Given the description of an element on the screen output the (x, y) to click on. 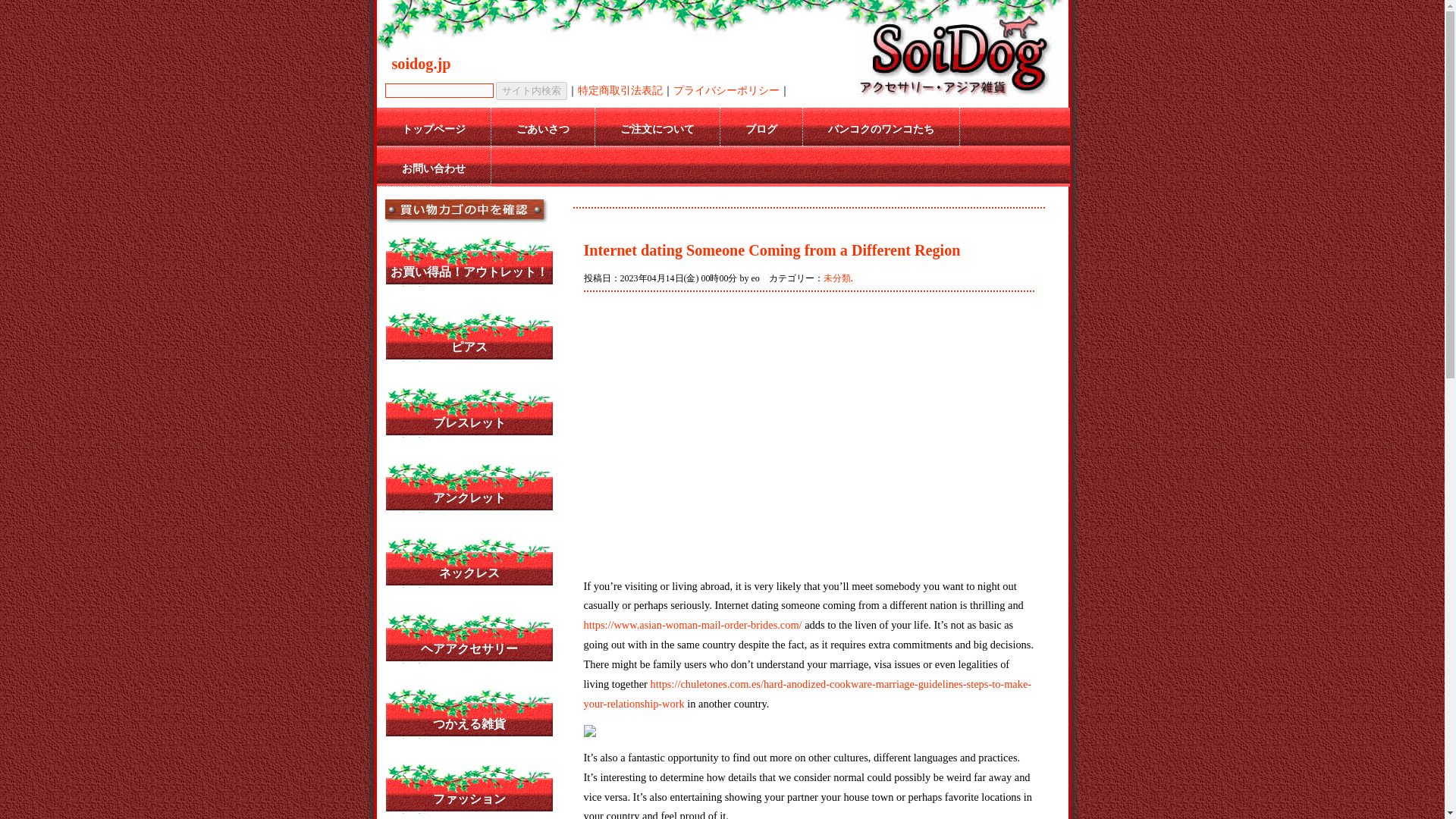
Advertisement (710, 434)
soidog.jp (420, 63)
Internet dating Someone Coming from a Different Region (771, 249)
